Given the description of an element on the screen output the (x, y) to click on. 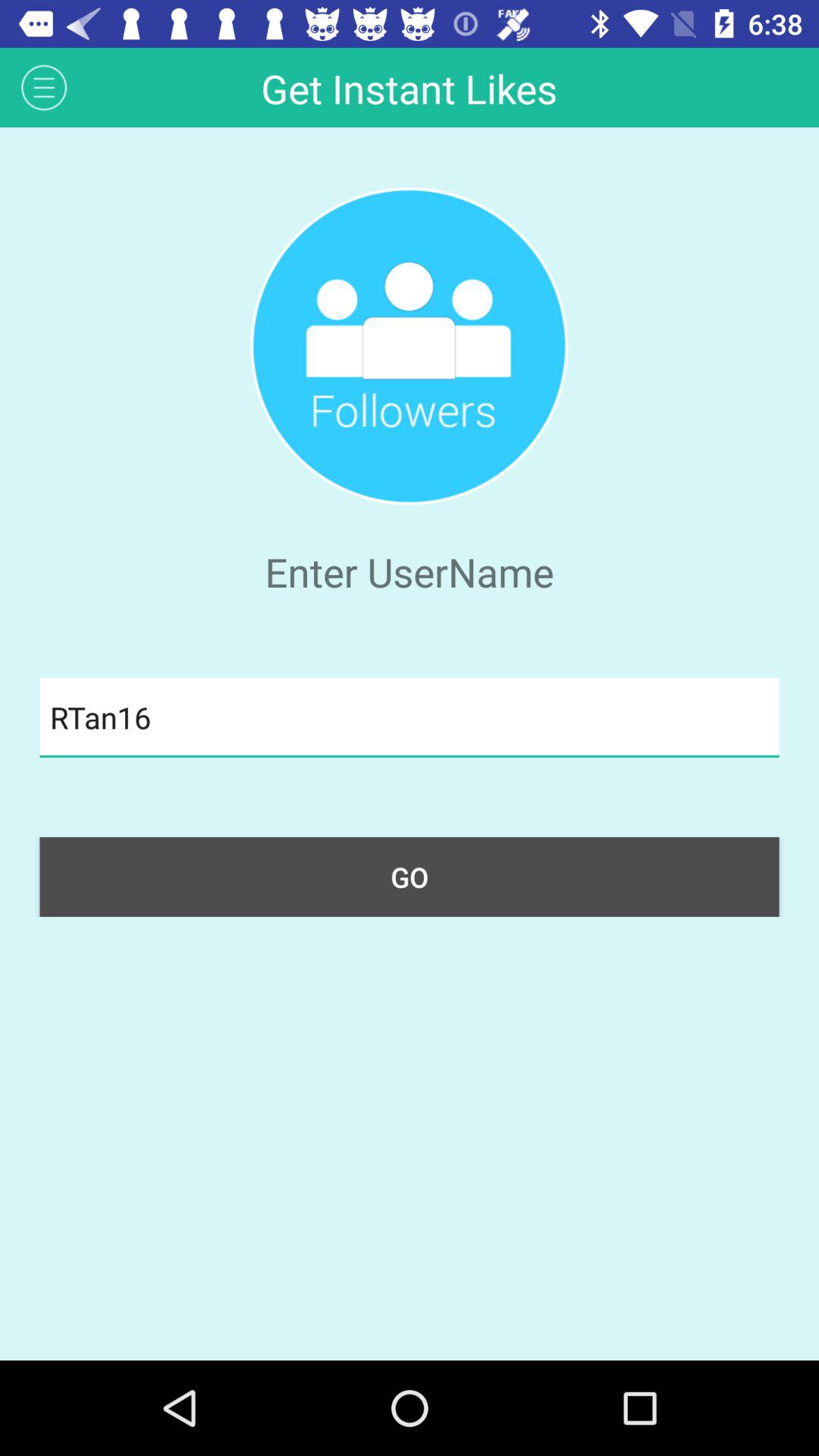
open item below rtan16 item (409, 876)
